Given the description of an element on the screen output the (x, y) to click on. 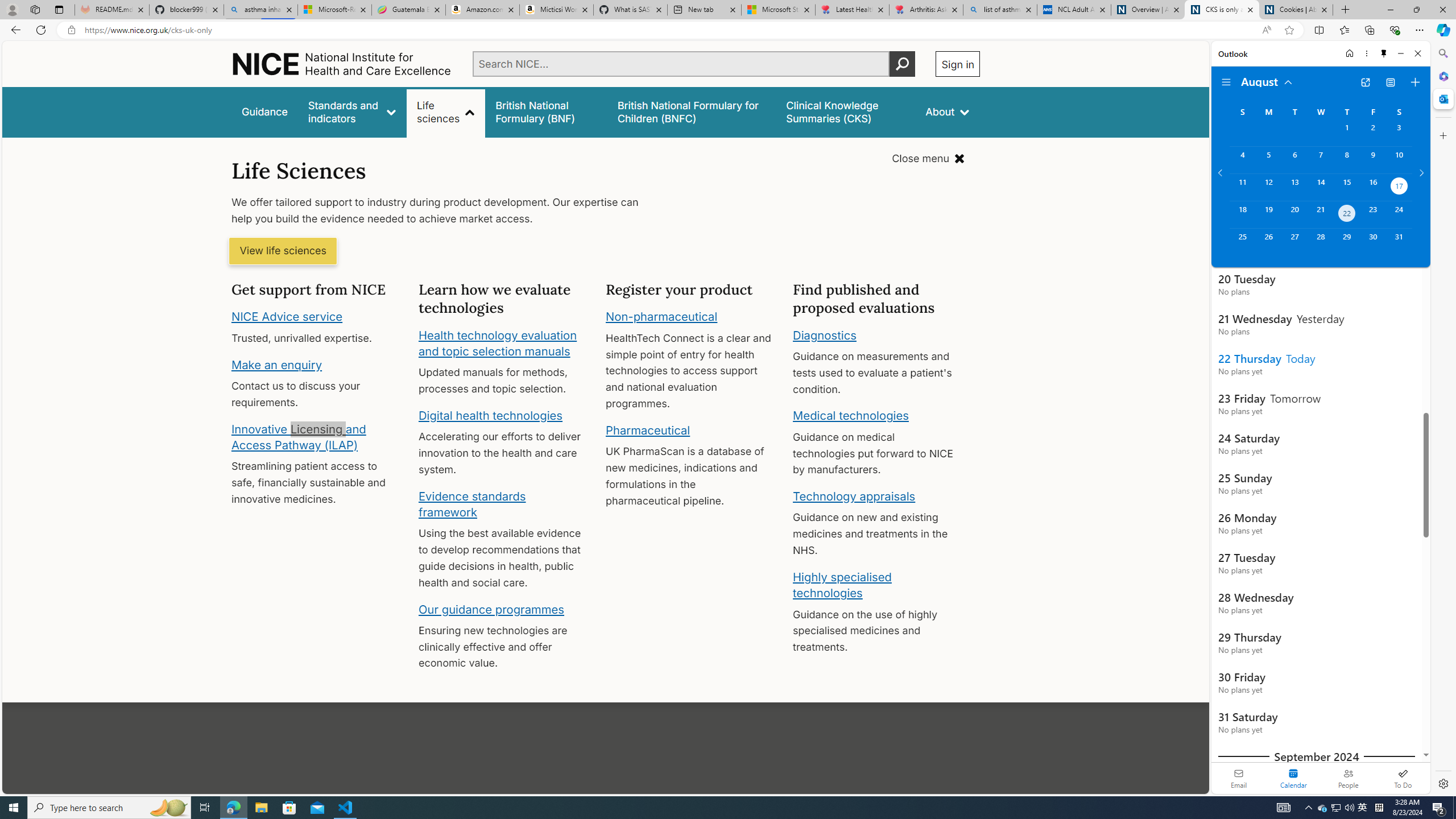
Friday, August 30, 2024.  (1372, 241)
Sunday, August 4, 2024.  (1242, 159)
August (1267, 80)
Wednesday, August 21, 2024.  (1320, 214)
Thursday, August 1, 2024.  (1346, 132)
NICE Advice service (287, 316)
Perform search (902, 63)
Health technology evaluation and topic selection manuals (496, 342)
Tuesday, August 27, 2024.  (1294, 241)
